Given the description of an element on the screen output the (x, y) to click on. 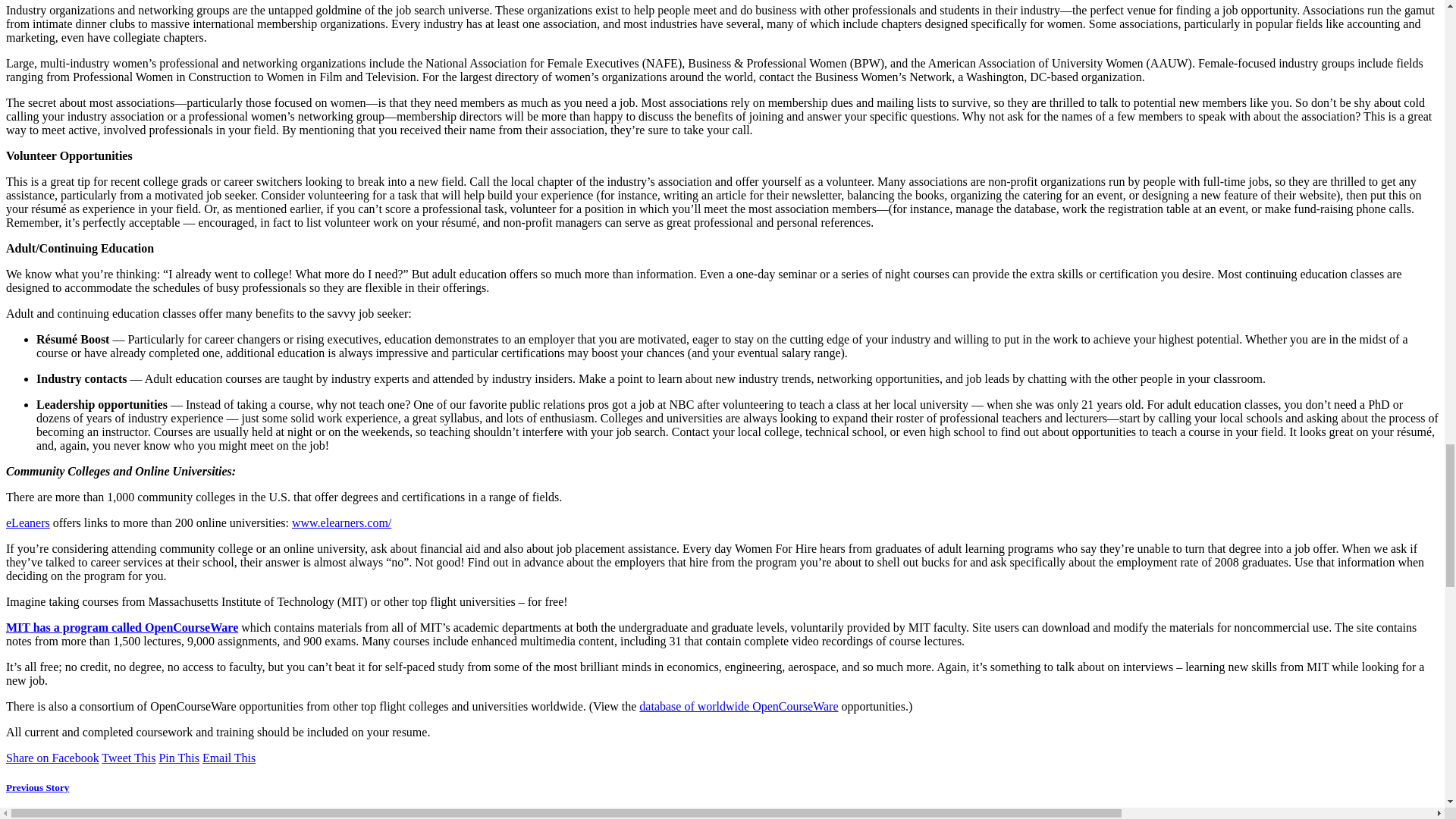
Tweet This (128, 757)
Pin This (178, 757)
Share on Facebook (52, 757)
Email This (229, 757)
